Given the description of an element on the screen output the (x, y) to click on. 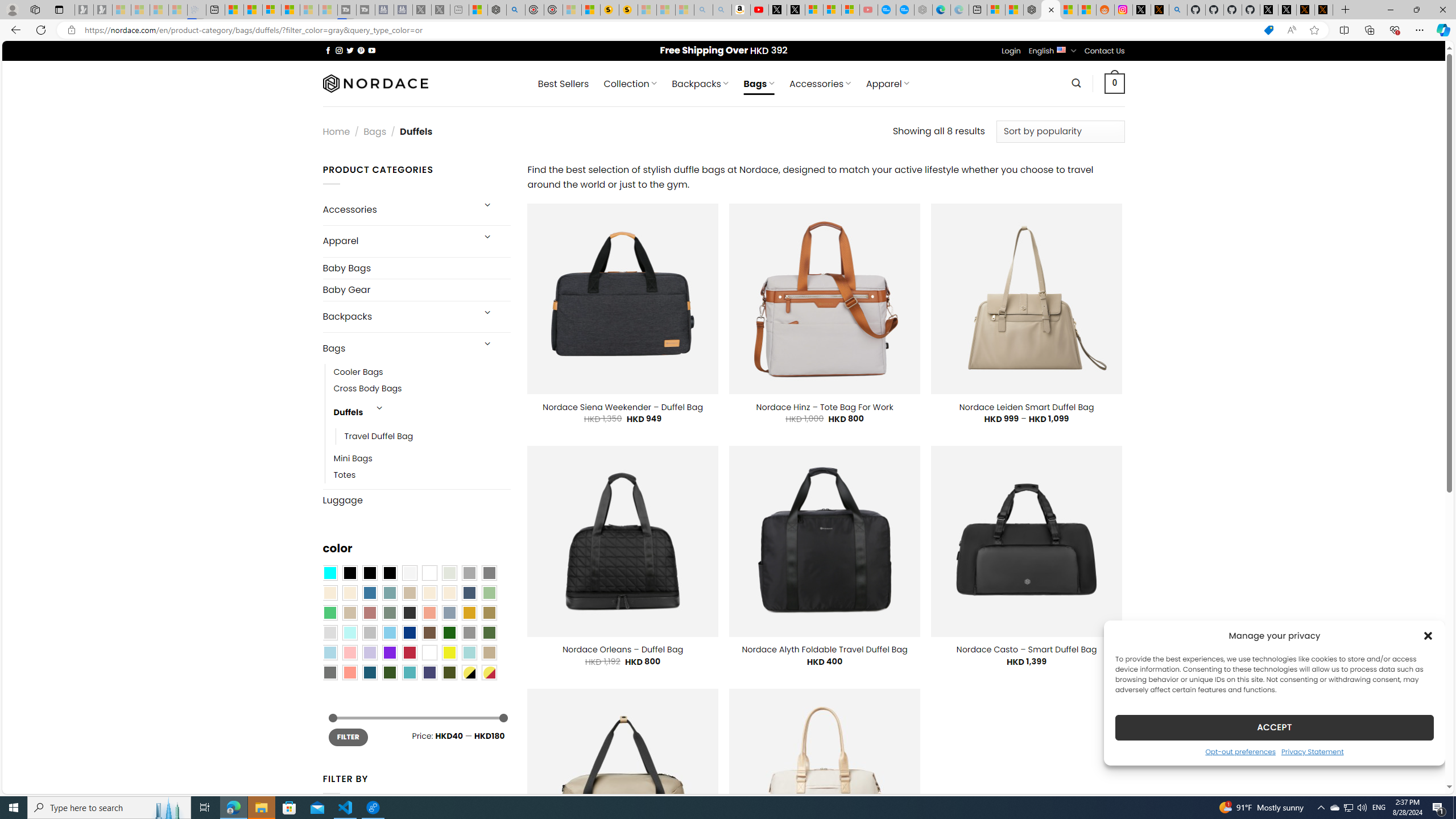
Bags (397, 348)
Cooler Bags (422, 371)
Login (1010, 50)
Beige-Brown (349, 592)
Follow on Facebook (327, 49)
All Black (349, 572)
  Best Sellers (563, 83)
Cross Body Bags (367, 388)
Forest (389, 672)
